Given the description of an element on the screen output the (x, y) to click on. 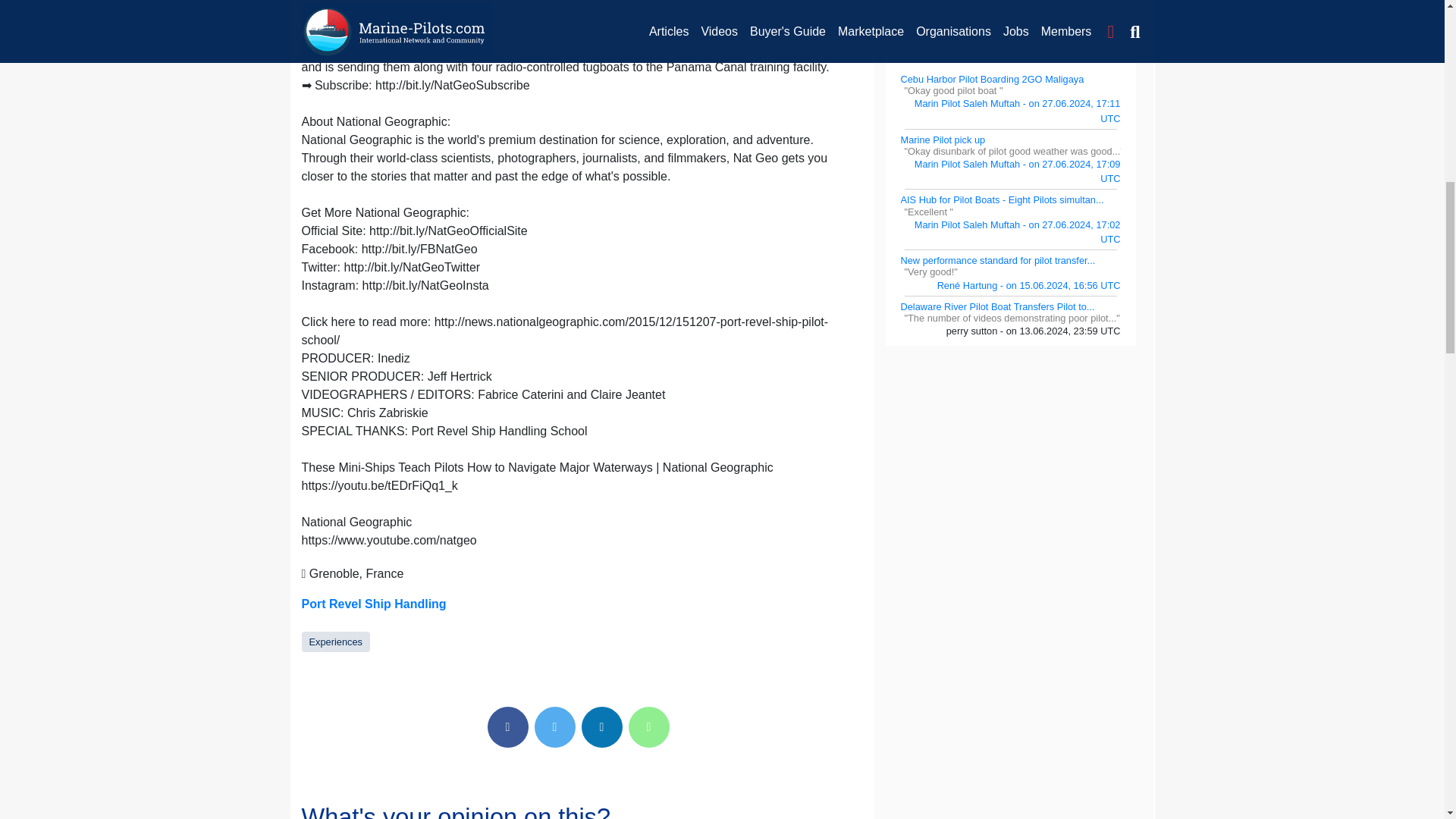
Experiences (335, 641)
Experiences (335, 641)
Port Revel Ship Handling (373, 604)
